Given the description of an element on the screen output the (x, y) to click on. 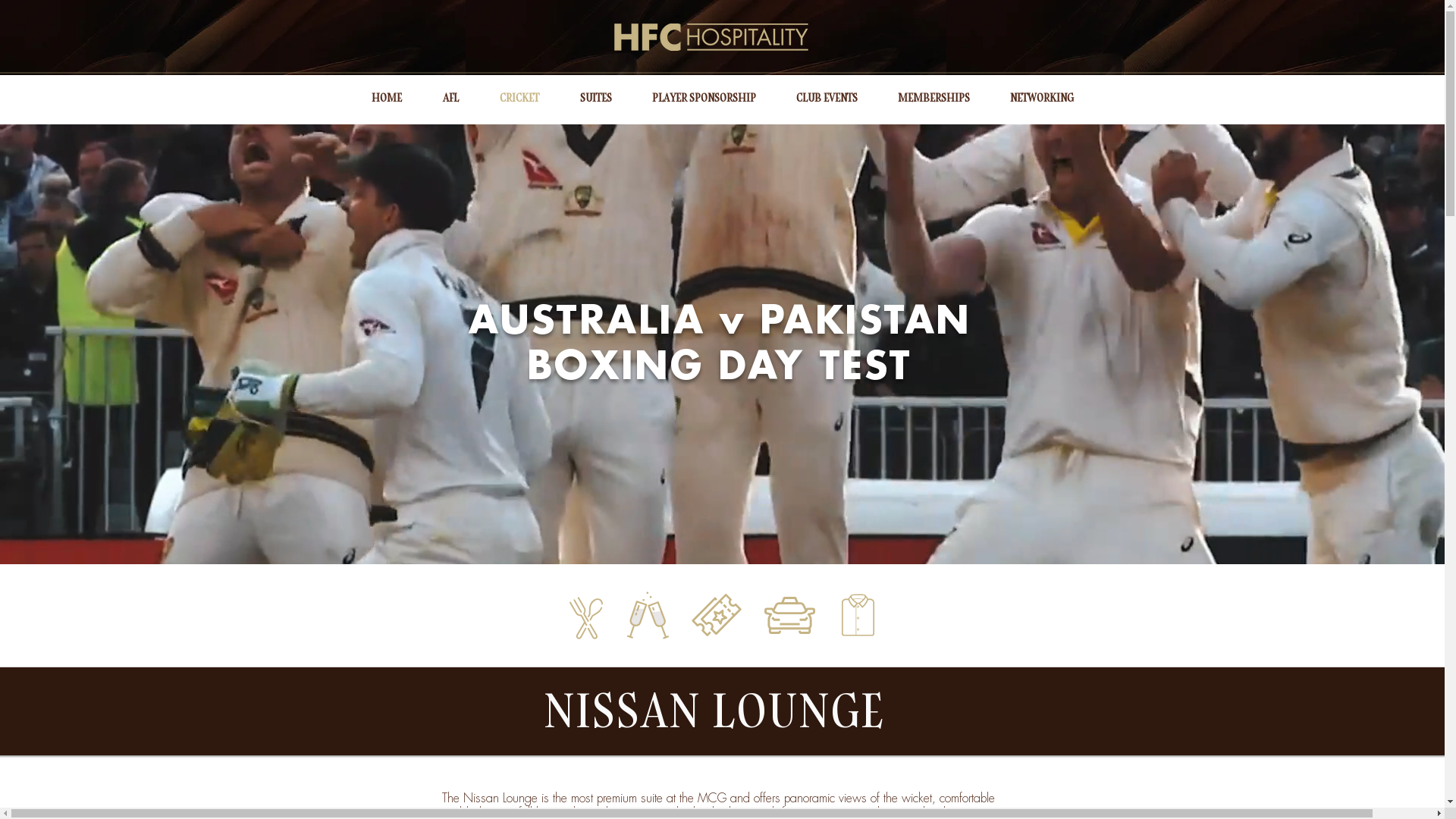
CRICKET Element type: text (519, 97)
AFL Element type: text (449, 97)
MEMBERSHIPS Element type: text (934, 97)
PLAYER SPONSORSHIP Element type: text (704, 97)
SUITES Element type: text (595, 97)
HOME Element type: text (385, 97)
NETWORKING Element type: text (1042, 97)
CLUB EVENTS Element type: text (827, 97)
